Given the description of an element on the screen output the (x, y) to click on. 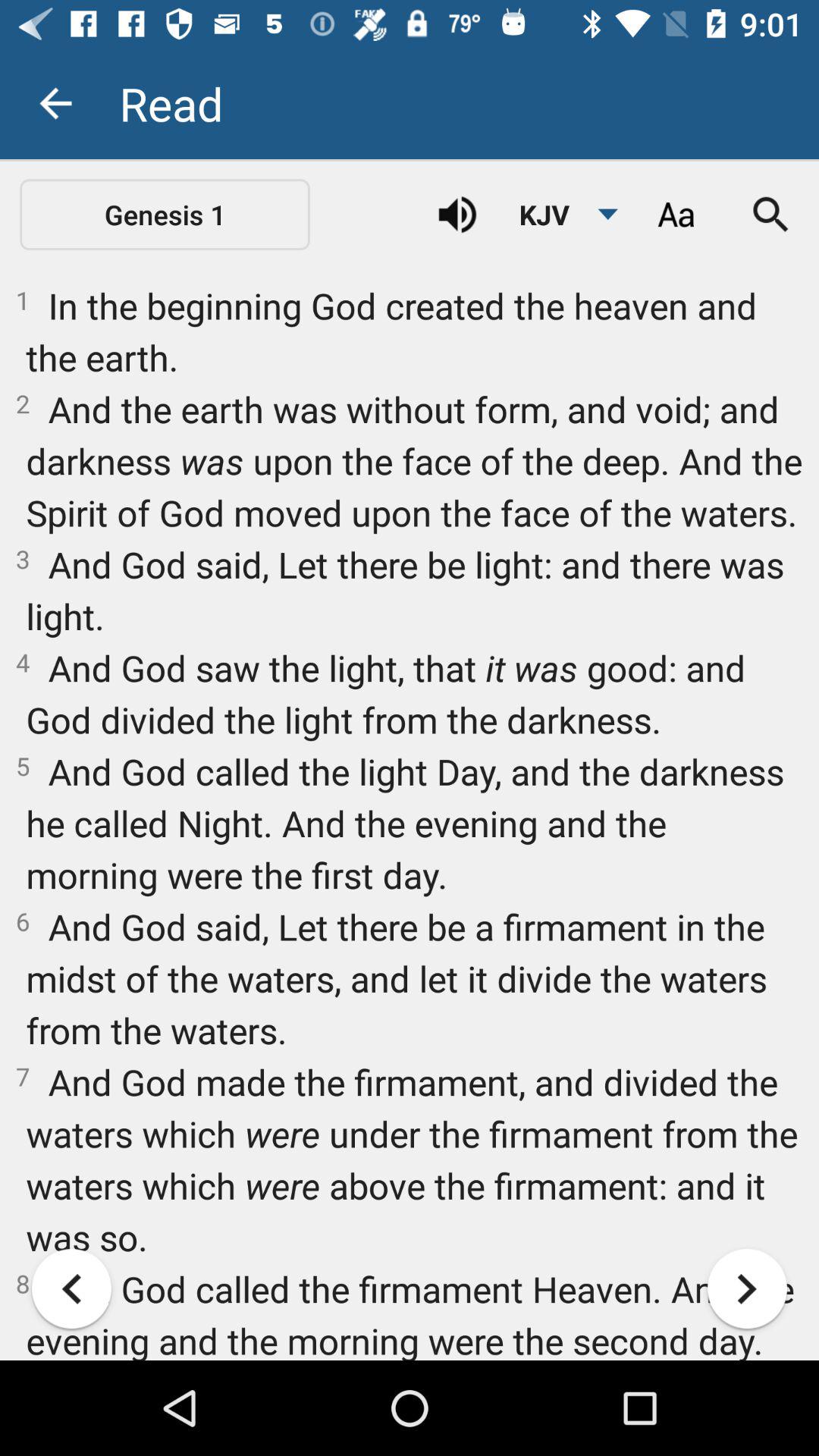
select the kjv (559, 214)
